Given the description of an element on the screen output the (x, y) to click on. 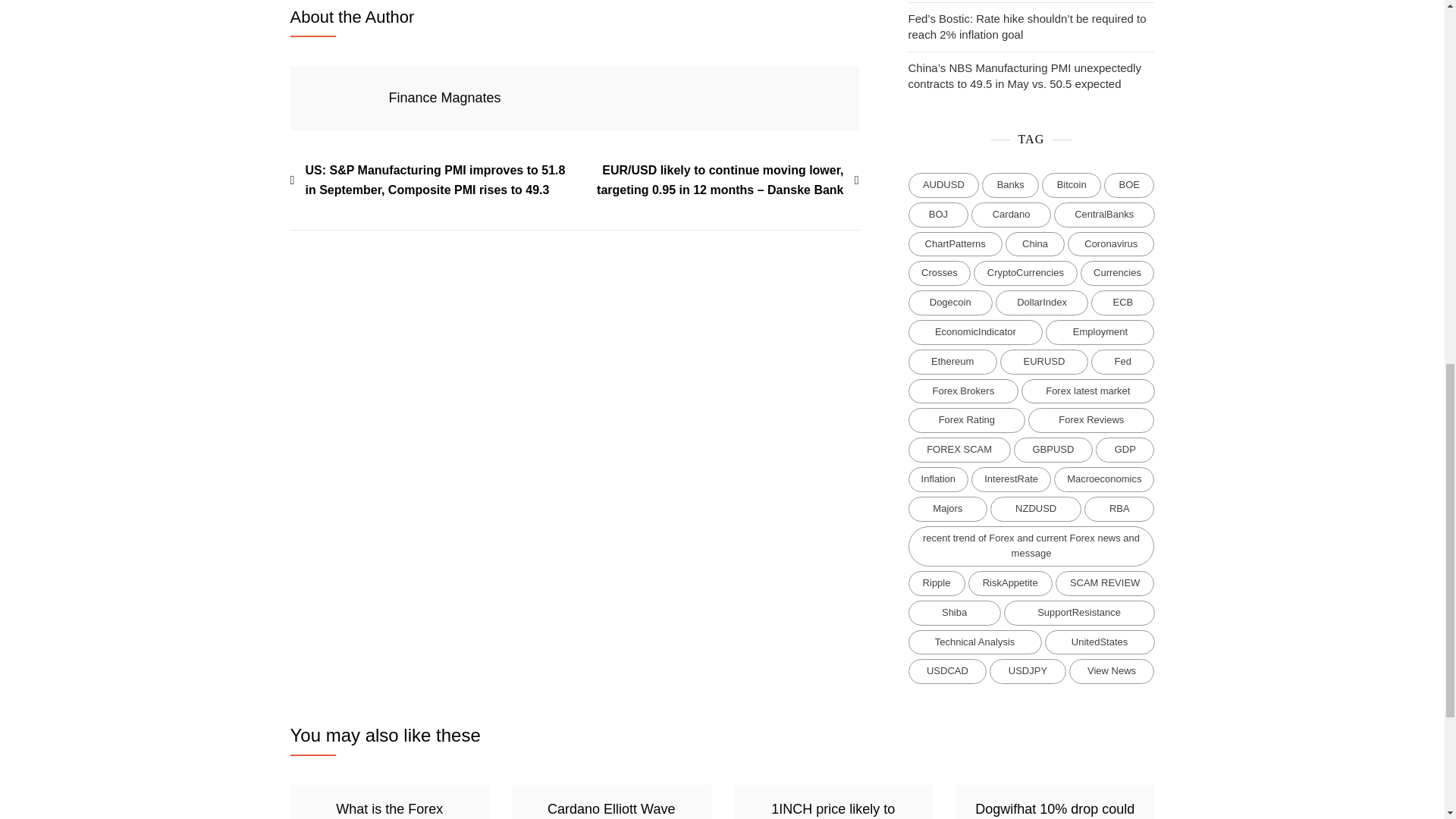
Finance Magnates (444, 97)
